Given the description of an element on the screen output the (x, y) to click on. 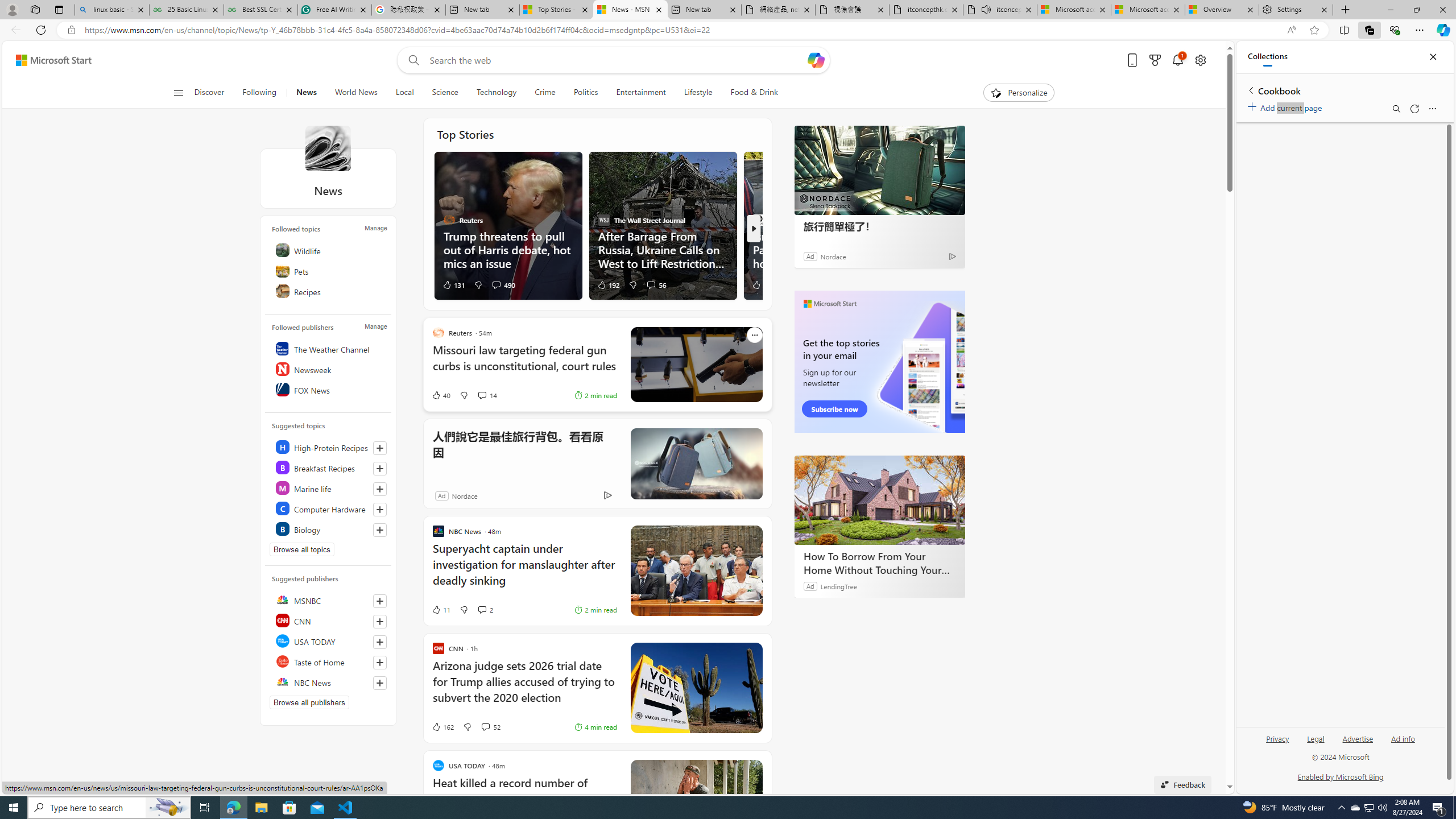
View comments 14 Comment (487, 395)
NBC News (328, 682)
itconcepthk.com/projector_solutions.mp4 (925, 9)
